Given the description of an element on the screen output the (x, y) to click on. 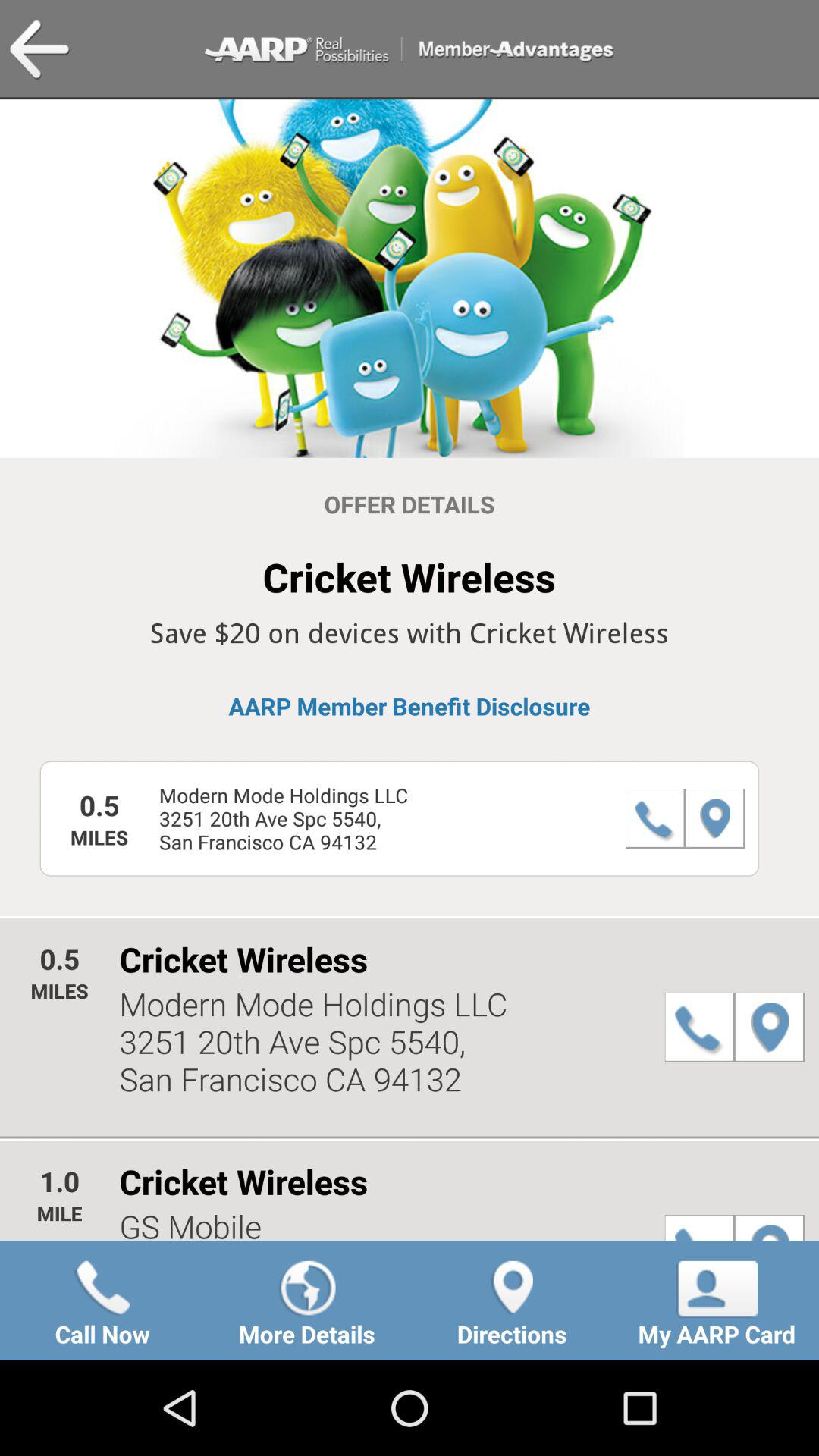
flip to the aarp member benefit button (409, 706)
